Given the description of an element on the screen output the (x, y) to click on. 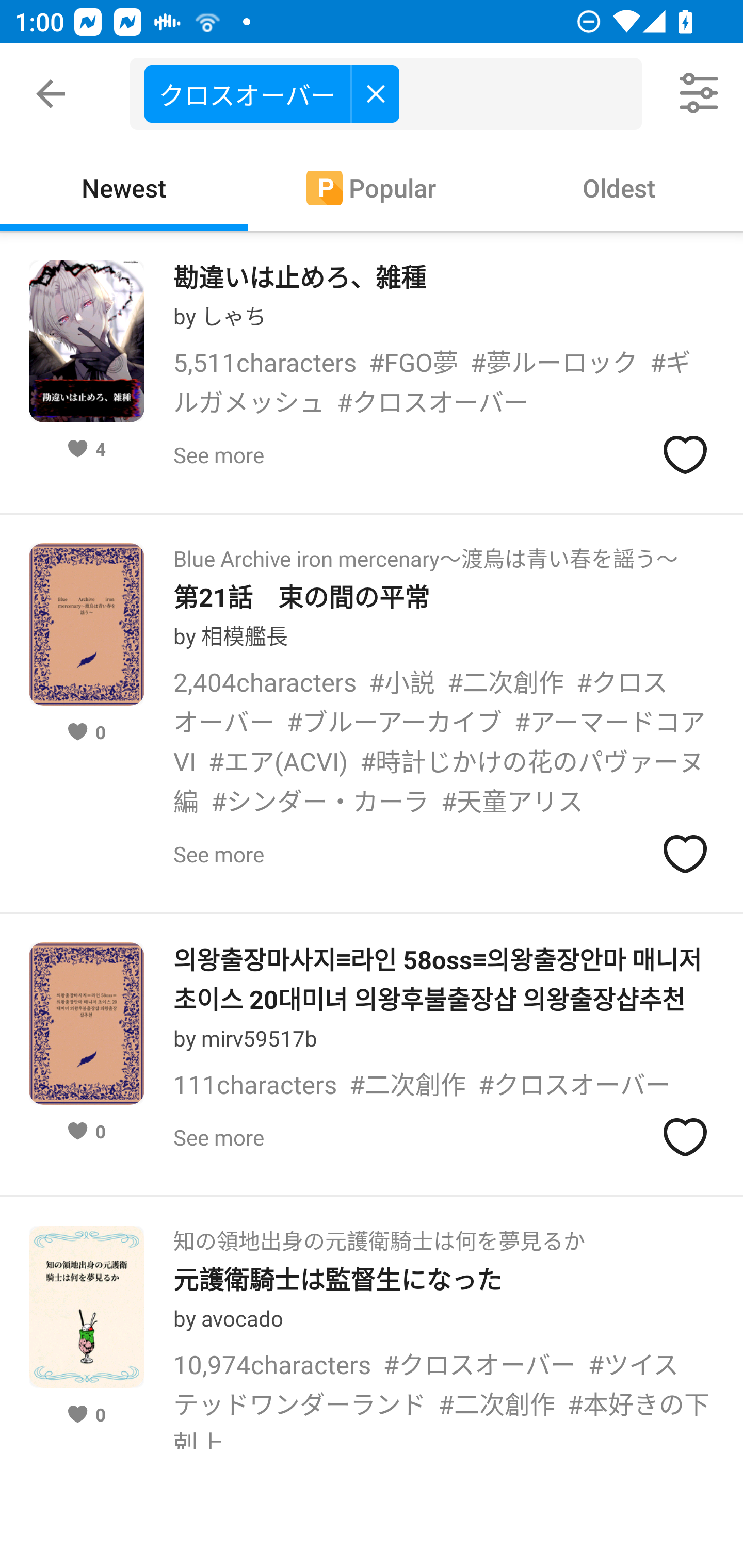
Navigate up (50, 93)
Filters (699, 93)
クロスオーバー (392, 94)
クロスオーバー (271, 93)
[P] Popular (371, 187)
Oldest (619, 187)
Blue Archive iron mercenary〜渡烏は青い春を謡う〜 (425, 552)
知の領地出身の元護衛騎士は何を夢見るか (378, 1234)
